Given the description of an element on the screen output the (x, y) to click on. 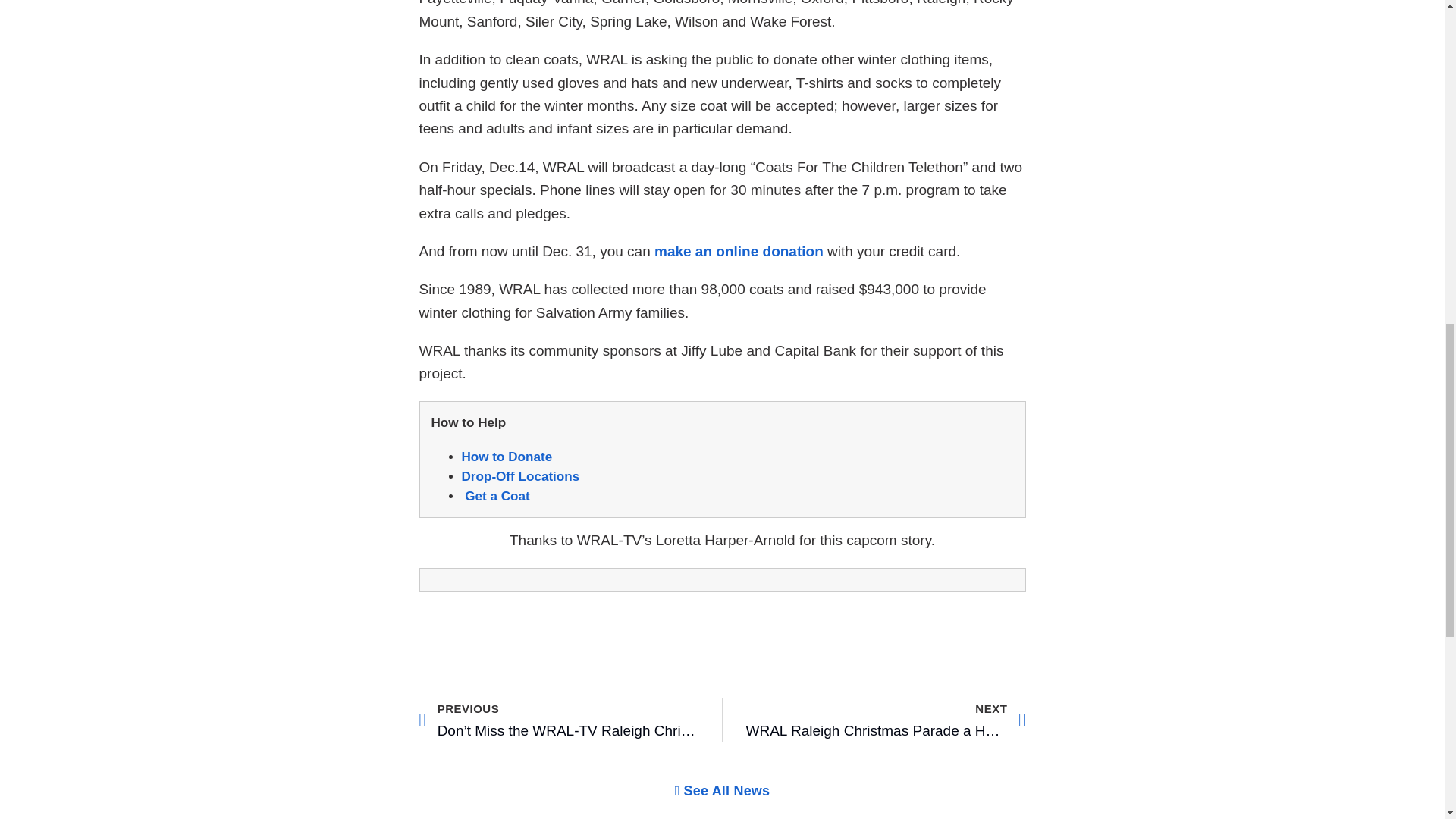
make an online donation (738, 251)
How to Donate (506, 456)
Drop-Off Locations (520, 476)
Get a Coat (496, 495)
See All News (885, 720)
